Given the description of an element on the screen output the (x, y) to click on. 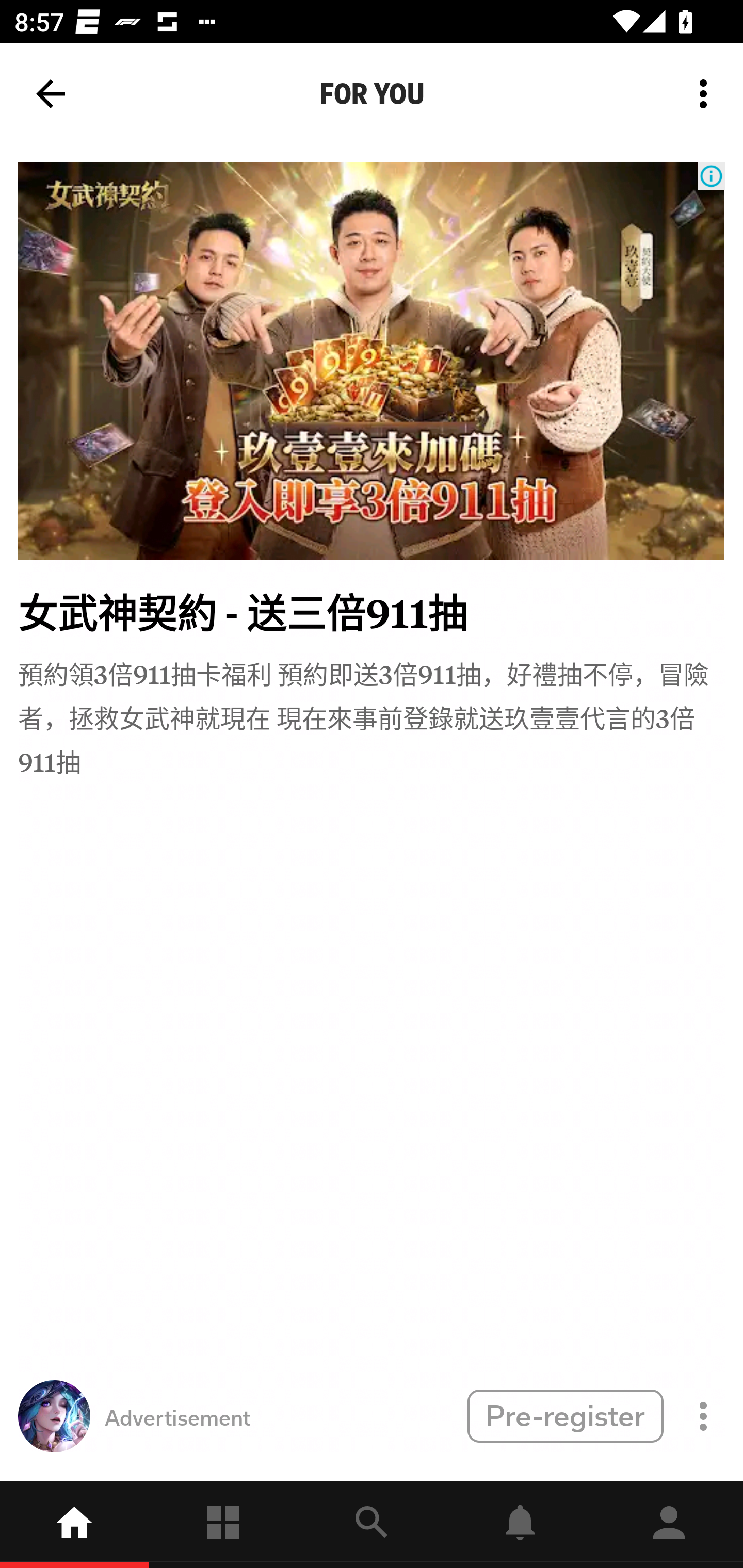
COMMUNITY (81, 84)
FOR YOU (371, 93)
More options (706, 93)
Ad Choices Icon (711, 176)
Pre-register (565, 1415)
home (74, 1524)
Following (222, 1524)
explore (371, 1524)
Notifications (519, 1524)
Profile (668, 1524)
